Given the description of an element on the screen output the (x, y) to click on. 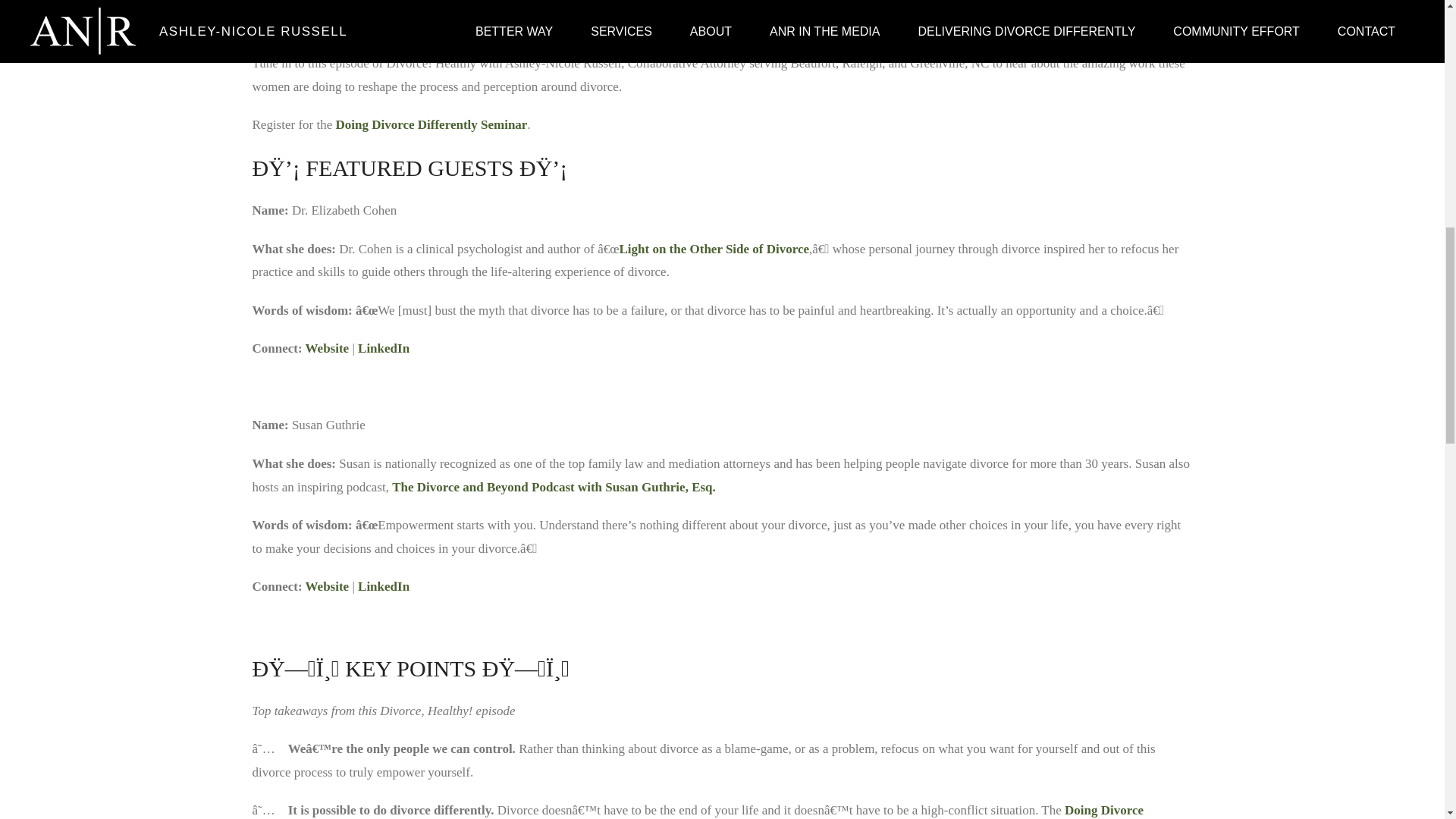
The Divorce and Beyond Podcast with Susan Guthrie, Esq. (553, 486)
Website (327, 348)
Website (327, 586)
Doing Divorce Differently Seminar (430, 124)
LinkedIn (383, 348)
Light on the Other Side of Divorce (713, 247)
Doing Divorce Differently Summit (696, 811)
LinkedIn (383, 586)
